Given the description of an element on the screen output the (x, y) to click on. 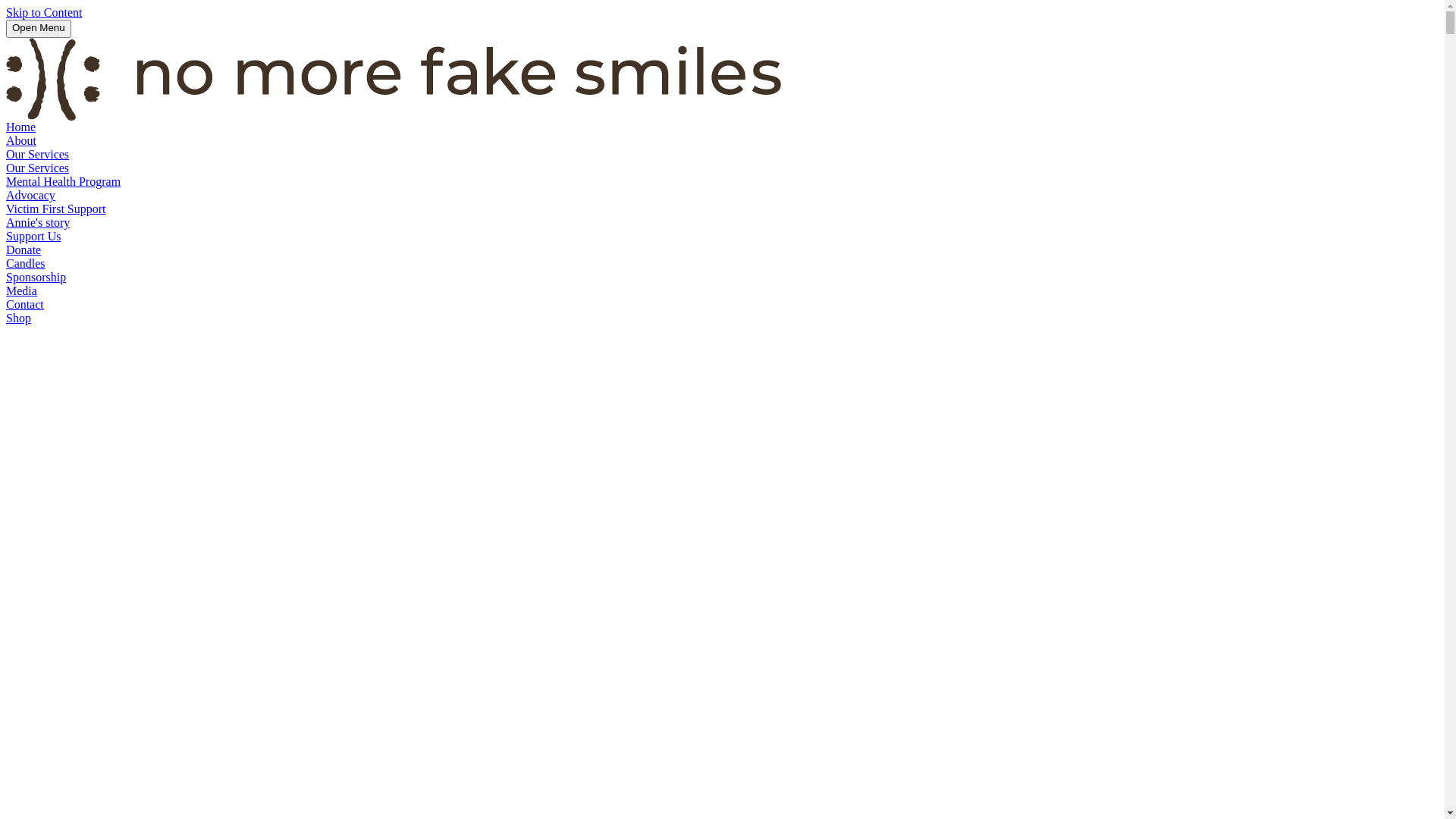
Sponsorship Element type: text (35, 276)
Skip to Content Element type: text (43, 12)
Home Element type: text (20, 126)
Our Services Element type: text (37, 167)
Advocacy Element type: text (30, 194)
Mental Health Program Element type: text (63, 181)
Support Us Element type: text (33, 235)
Open Menu Element type: text (38, 28)
About Element type: text (21, 140)
Our Services Element type: text (37, 153)
Donate Element type: text (23, 249)
Annie's story Element type: text (37, 222)
Media Element type: text (21, 290)
Victim First Support Element type: text (56, 208)
Contact Element type: text (24, 304)
Shop Element type: text (18, 317)
Candles Element type: text (25, 263)
